Given the description of an element on the screen output the (x, y) to click on. 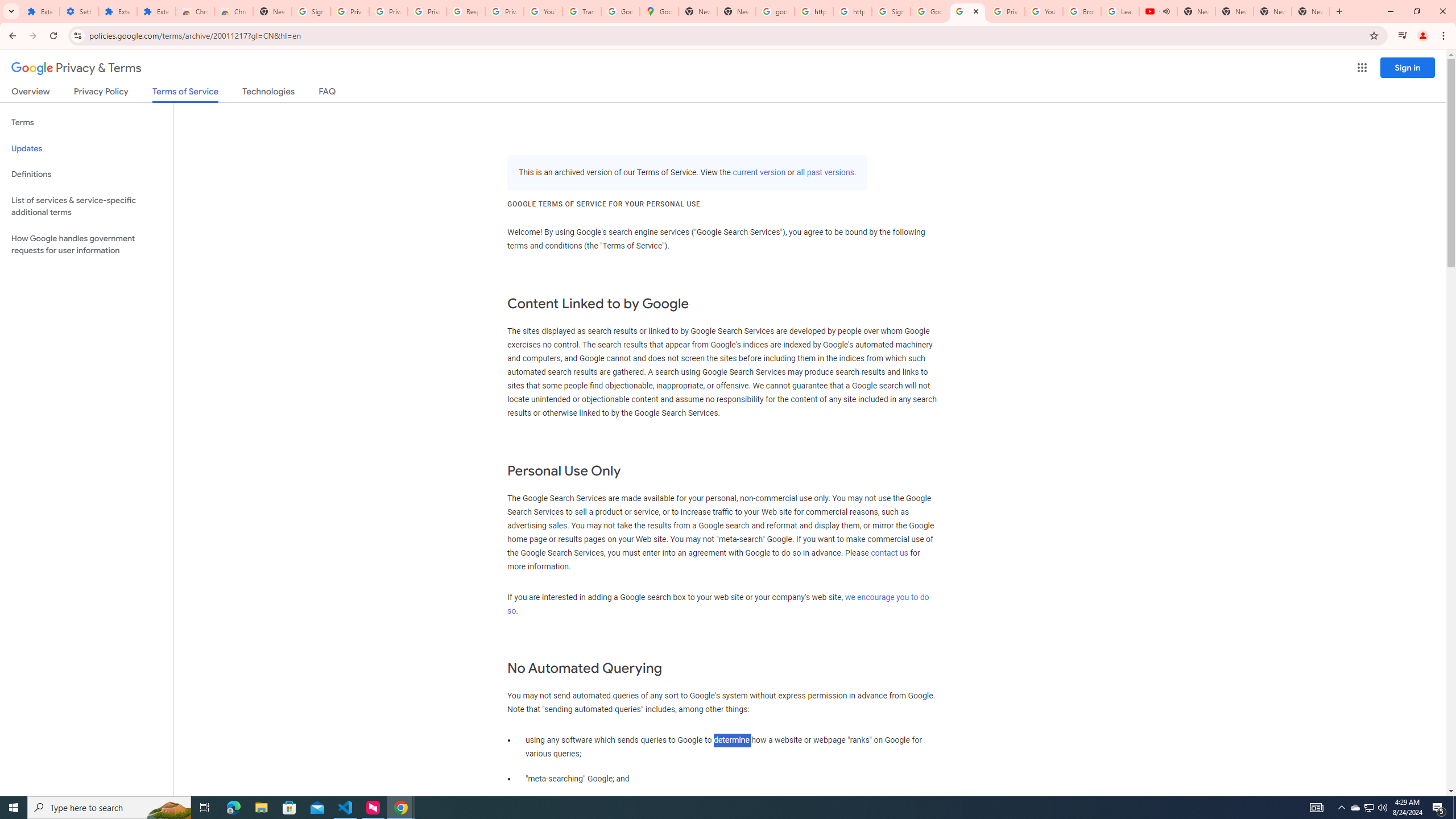
Definitions (86, 174)
Chrome Web Store (194, 11)
